Given the description of an element on the screen output the (x, y) to click on. 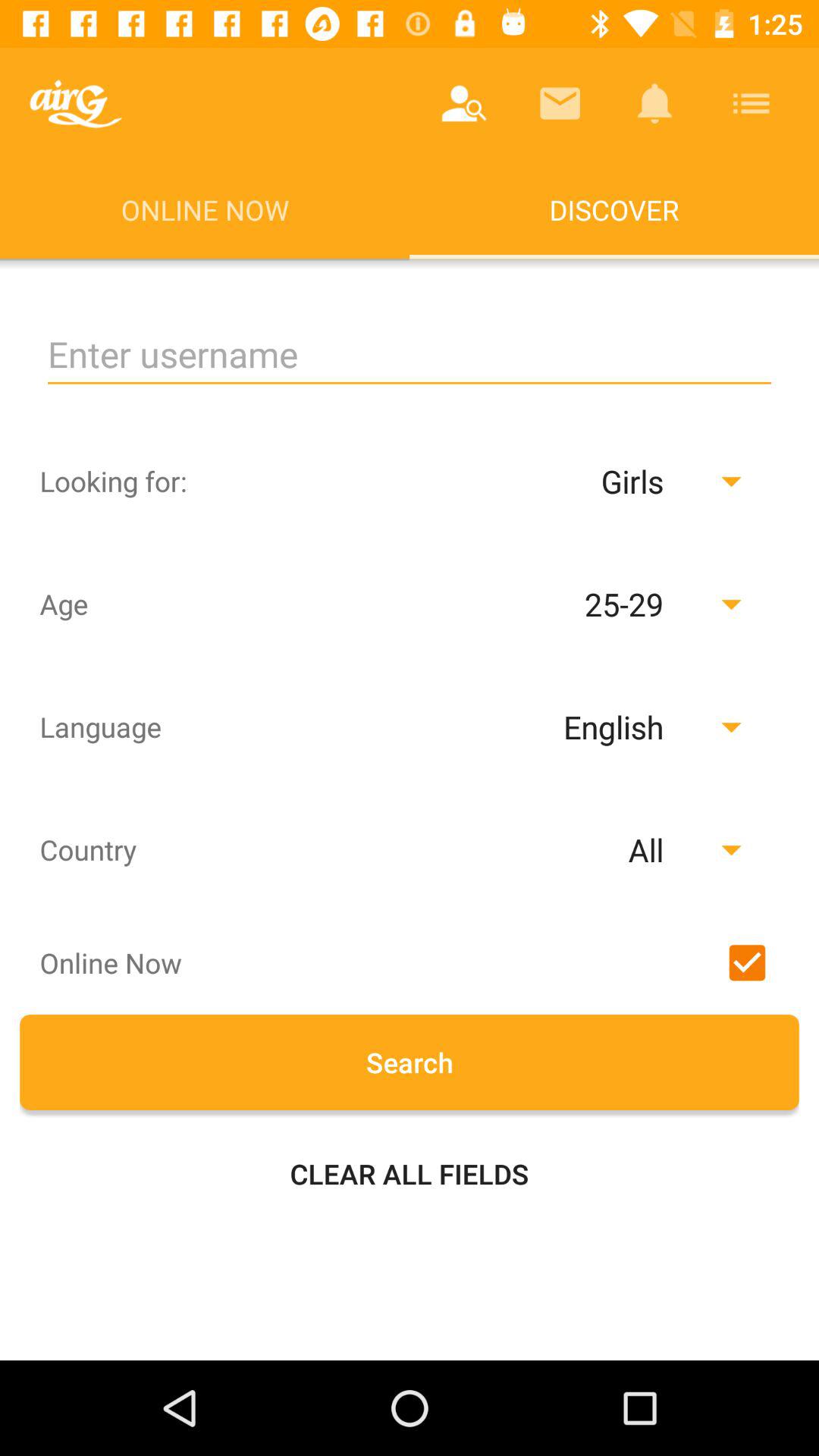
enter username (409, 354)
